Given the description of an element on the screen output the (x, y) to click on. 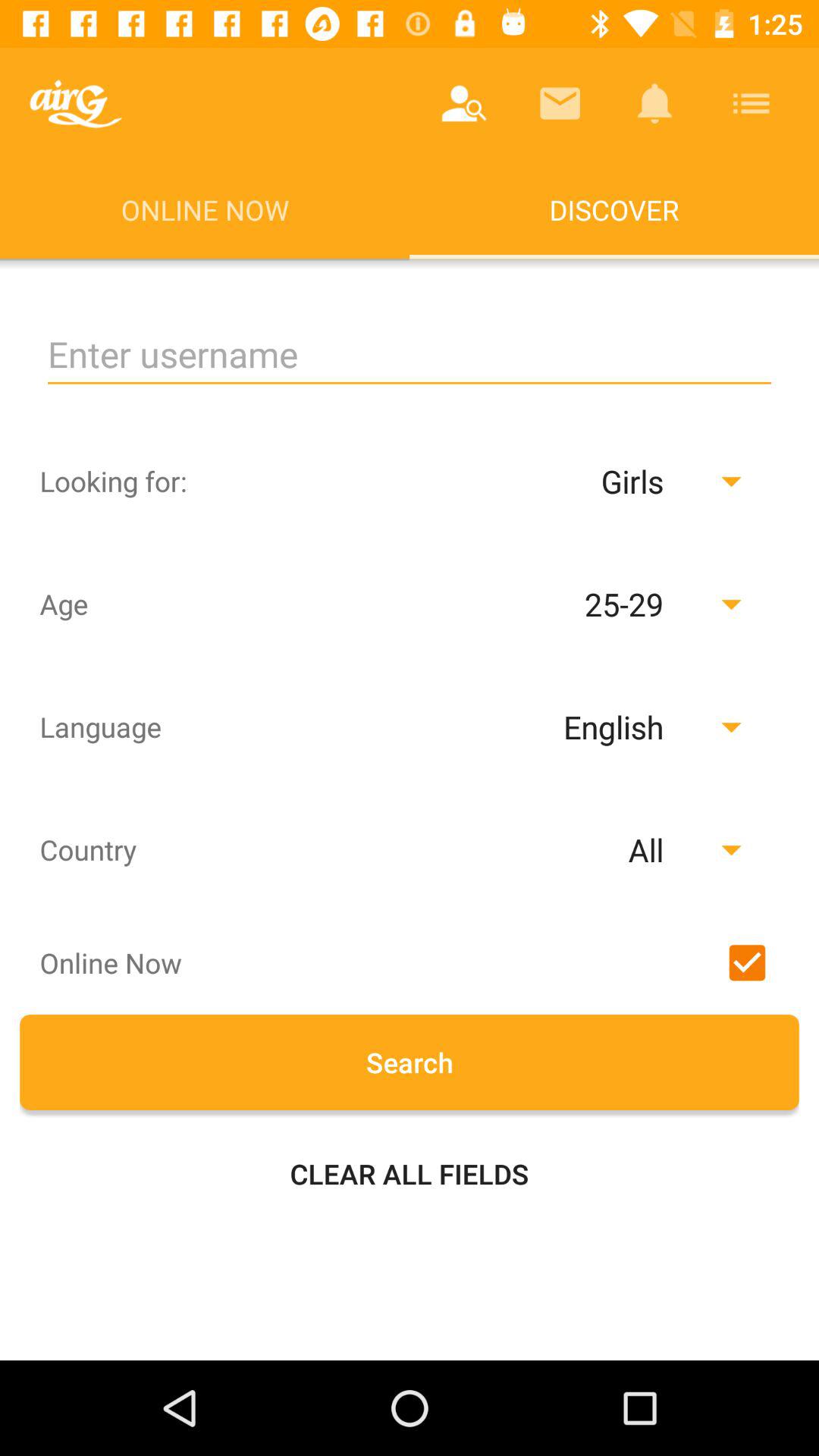
enter username (409, 354)
